Given the description of an element on the screen output the (x, y) to click on. 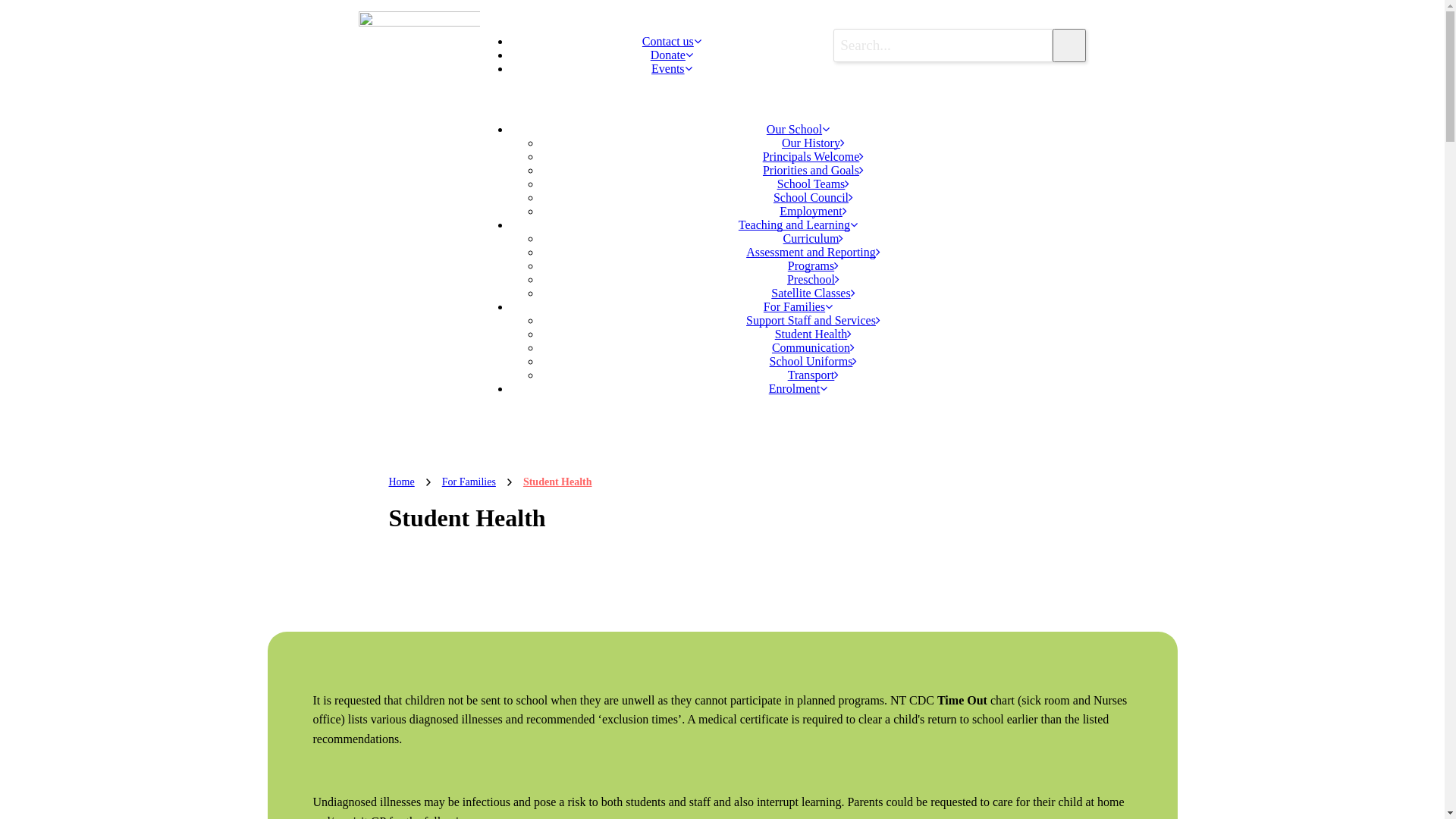
Employment Element type: text (813, 210)
Support Staff and Services Element type: text (813, 319)
Our School Element type: text (797, 128)
Programs Element type: text (812, 265)
Satellite Classes Element type: text (812, 292)
Principals Welcome Element type: text (813, 156)
Enrolment Element type: text (798, 388)
Curriculum Element type: text (813, 238)
Teaching and Learning Element type: text (797, 224)
Our History Element type: text (812, 142)
Contact us Element type: text (671, 40)
School Teams Element type: text (813, 183)
Transport Element type: text (813, 374)
Home Element type: text (401, 482)
Priorities and Goals Element type: text (812, 169)
School Uniforms Element type: text (813, 360)
For Families Element type: text (468, 482)
School Council Element type: text (813, 197)
Preschool Element type: text (813, 279)
For Families Element type: text (797, 306)
Communication Element type: text (812, 347)
Events Element type: text (671, 68)
Donate Element type: text (671, 54)
Assessment and Reporting Element type: text (813, 251)
Student Health Element type: text (813, 333)
